Given the description of an element on the screen output the (x, y) to click on. 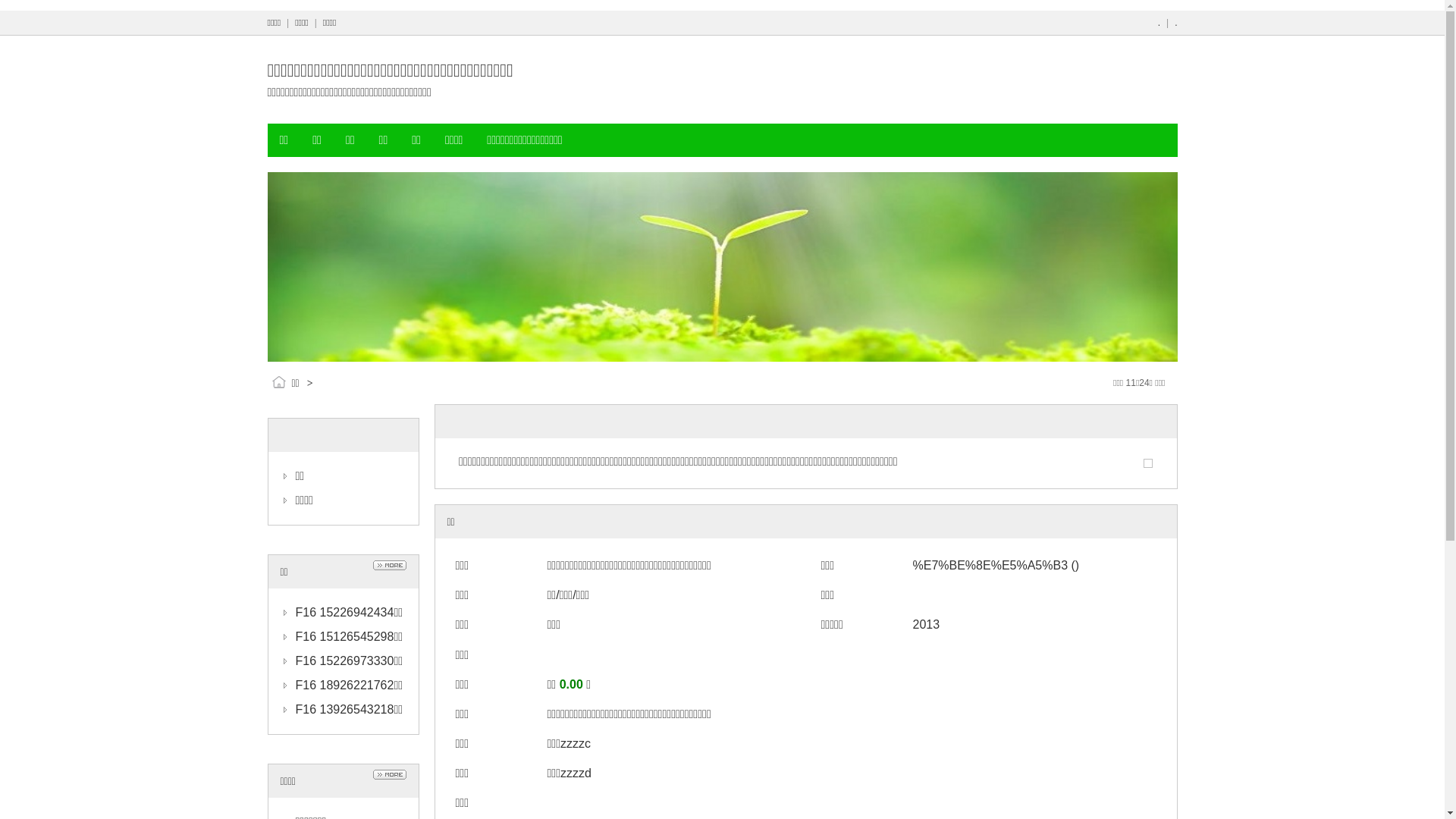
. Element type: text (1158, 22)
. Element type: text (1175, 22)
